Given the description of an element on the screen output the (x, y) to click on. 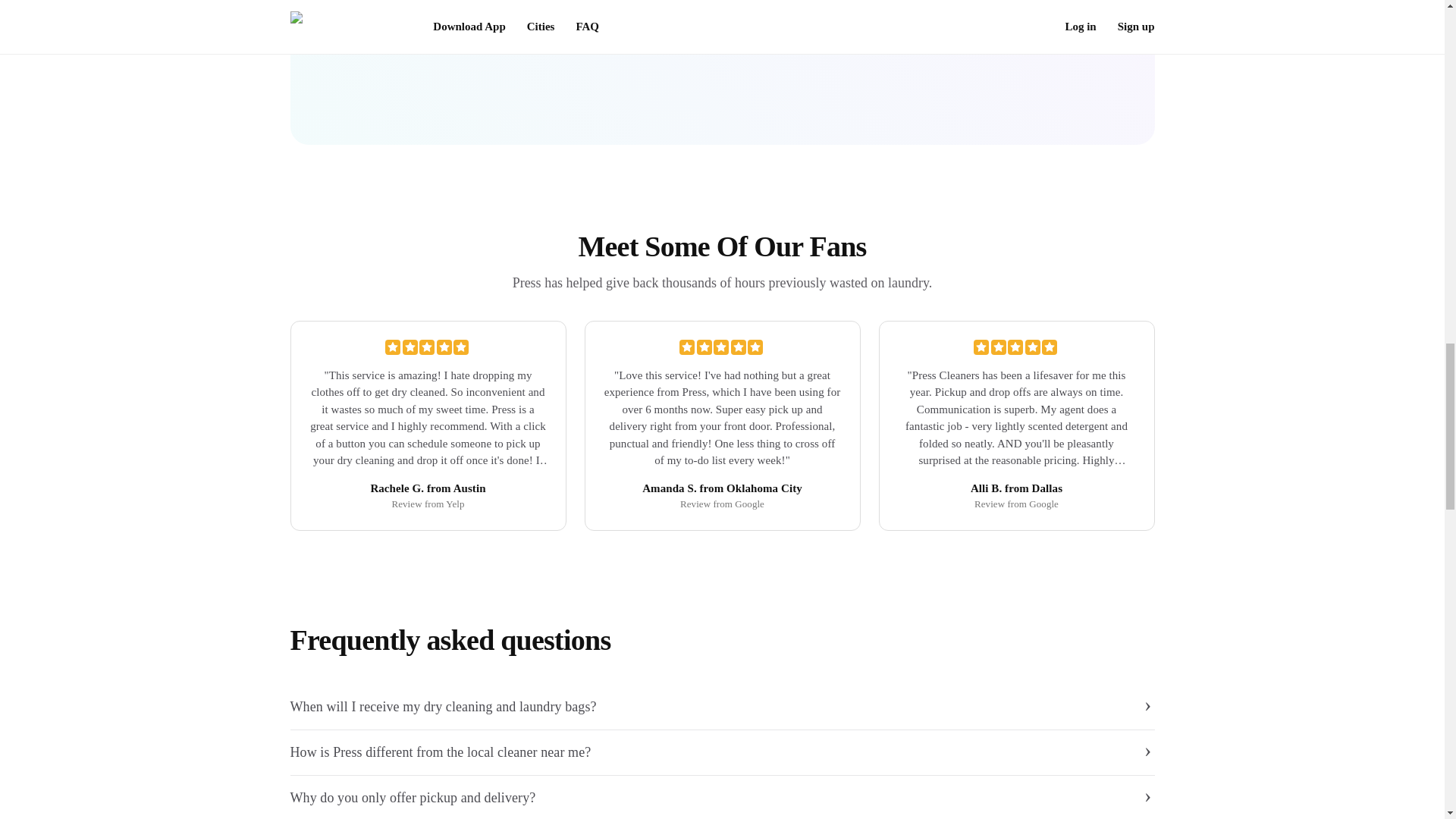
Review from Google (1016, 503)
Review from Google (722, 503)
Review from Yelp (427, 503)
